Given the description of an element on the screen output the (x, y) to click on. 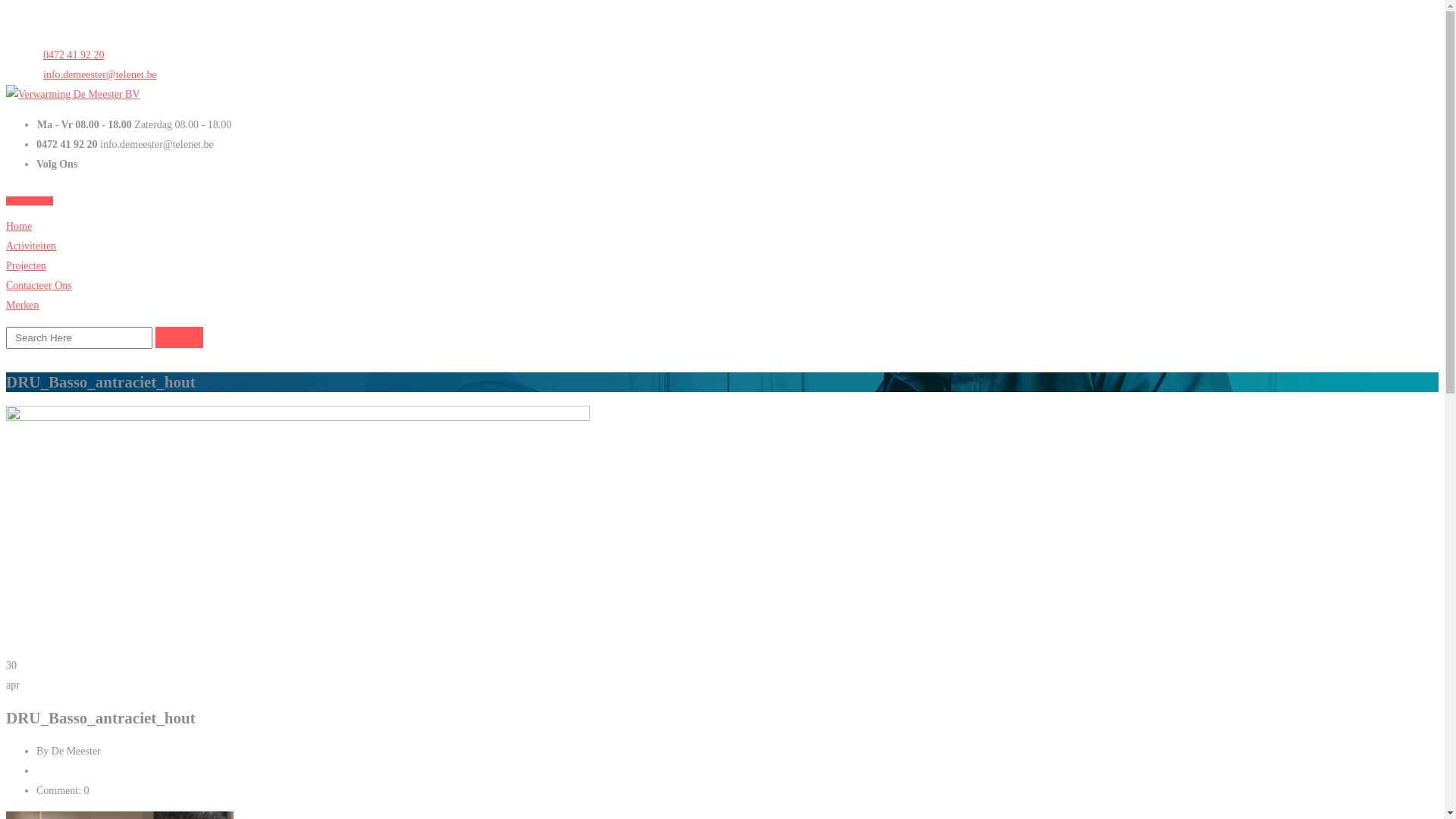
Projecten Element type: text (26, 265)
Search for: Element type: hover (79, 337)
info.demeester@telenet.be Element type: text (96, 74)
Contacteer Ons Element type: text (39, 285)
0472 41 92 20 Element type: text (70, 54)
Merken Element type: text (22, 304)
Home Element type: text (18, 226)
Activiteiten Element type: text (31, 245)
